Given the description of an element on the screen output the (x, y) to click on. 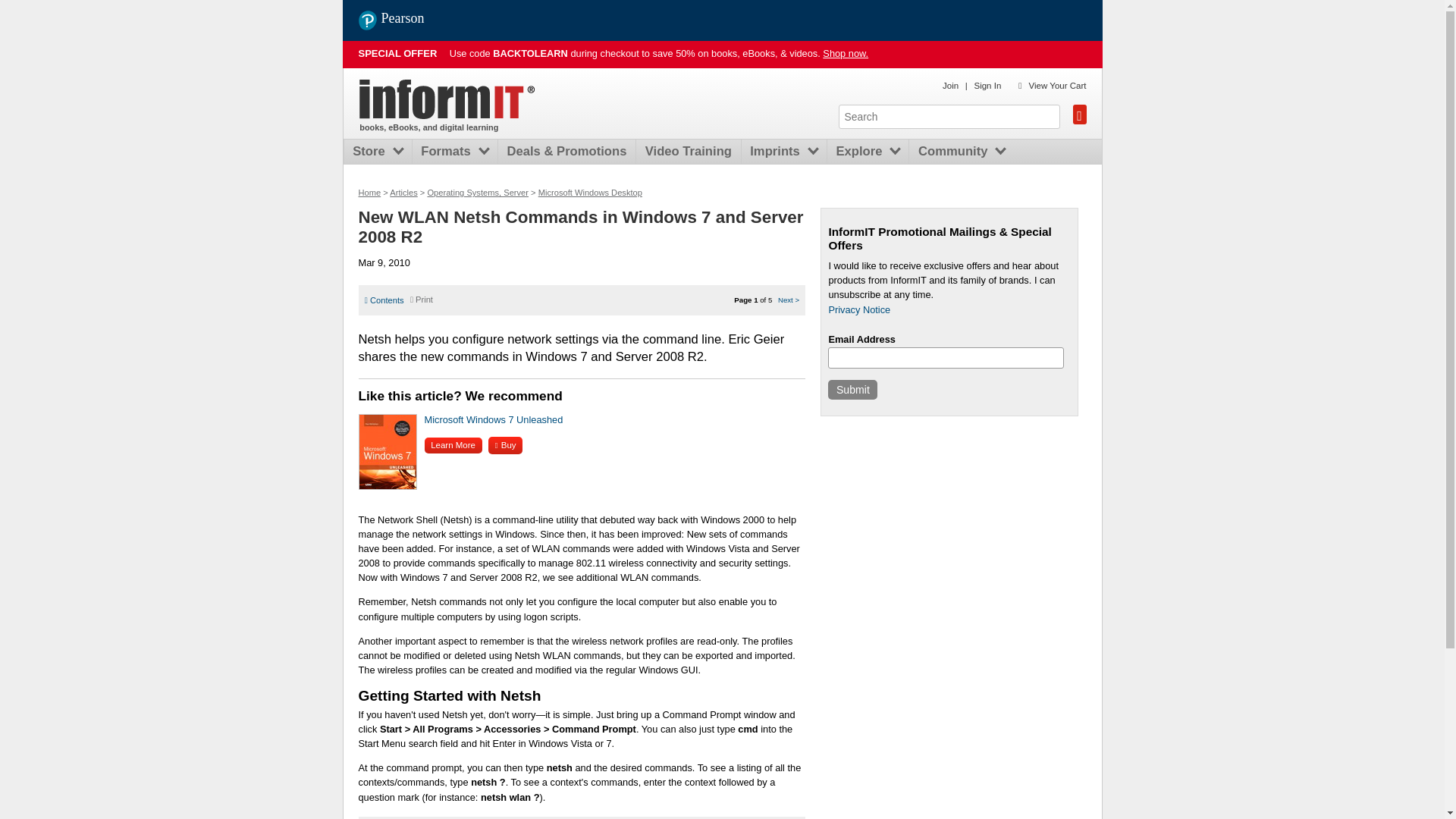
Microsoft Windows 7 Unleashed (494, 419)
Home (446, 98)
Print (421, 298)
Submit (852, 389)
Learn More (453, 445)
Microsoft Windows Desktop (590, 192)
Privacy Notice (858, 309)
Home (369, 192)
Submit (852, 389)
View Your Cart (1057, 85)
